Given the description of an element on the screen output the (x, y) to click on. 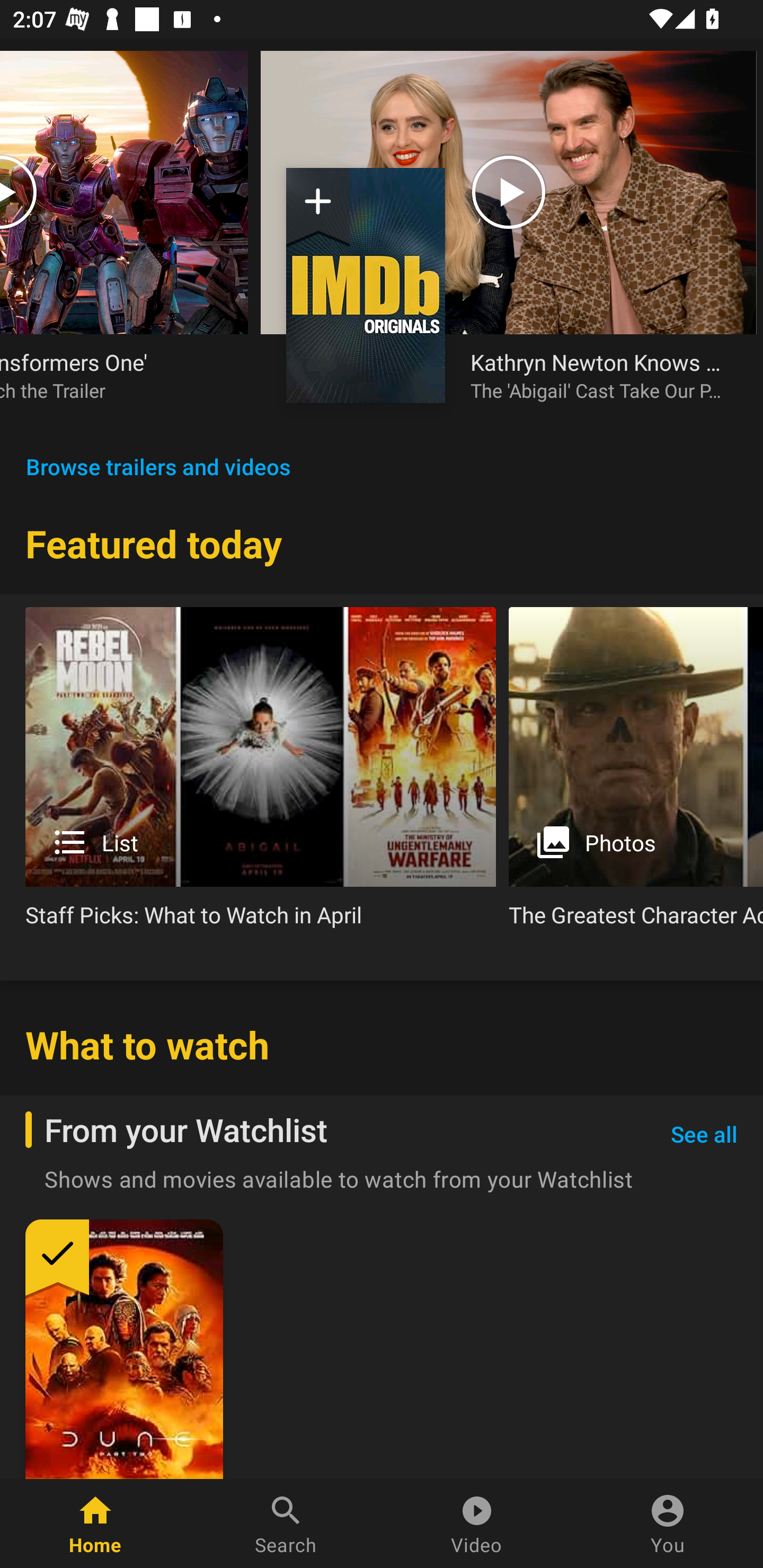
'Transformers One' Watch the Trailer (123, 239)
Not in watchlist (365, 284)
Not in watchlist (317, 207)
'Transformers One' Watch the Trailer (111, 374)
List Staff Picks: What to Watch in April (260, 774)
Photos The Greatest Character Actors of All Time (635, 774)
See all See all From your Watchlist (703, 1134)
Search (285, 1523)
Video (476, 1523)
You (667, 1523)
